Given the description of an element on the screen output the (x, y) to click on. 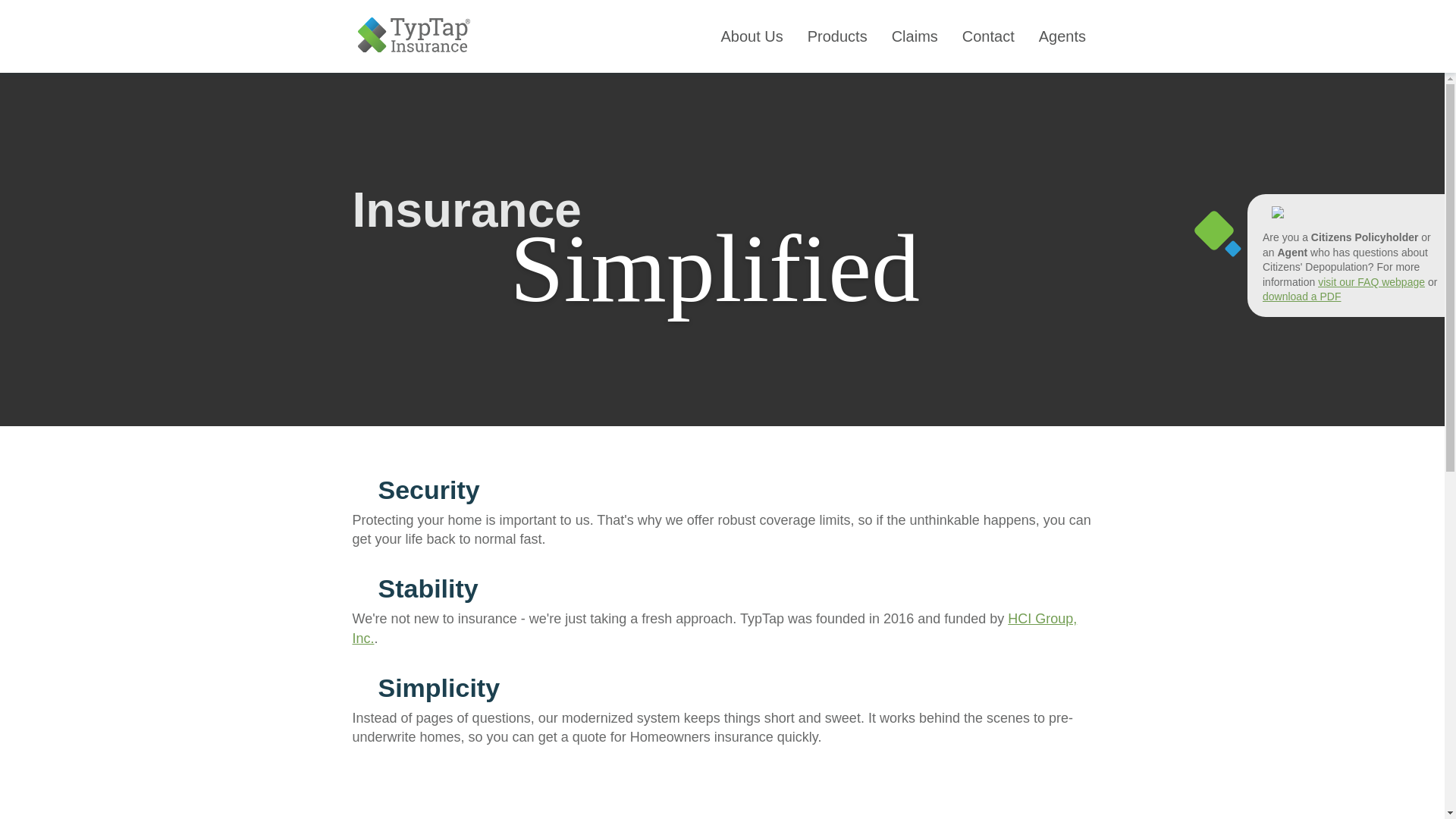
Products (836, 35)
download a PDF (1301, 296)
About Us (750, 35)
TypTap Insurance (414, 47)
About Us (750, 35)
visit our FAQ webpage (1371, 282)
Contact (988, 35)
TypTap Insurance (414, 36)
Products (836, 35)
Claims (914, 35)
Claims (914, 35)
HCI Group, Inc. (714, 627)
mainnav (783, 35)
Contact (988, 35)
